Given the description of an element on the screen output the (x, y) to click on. 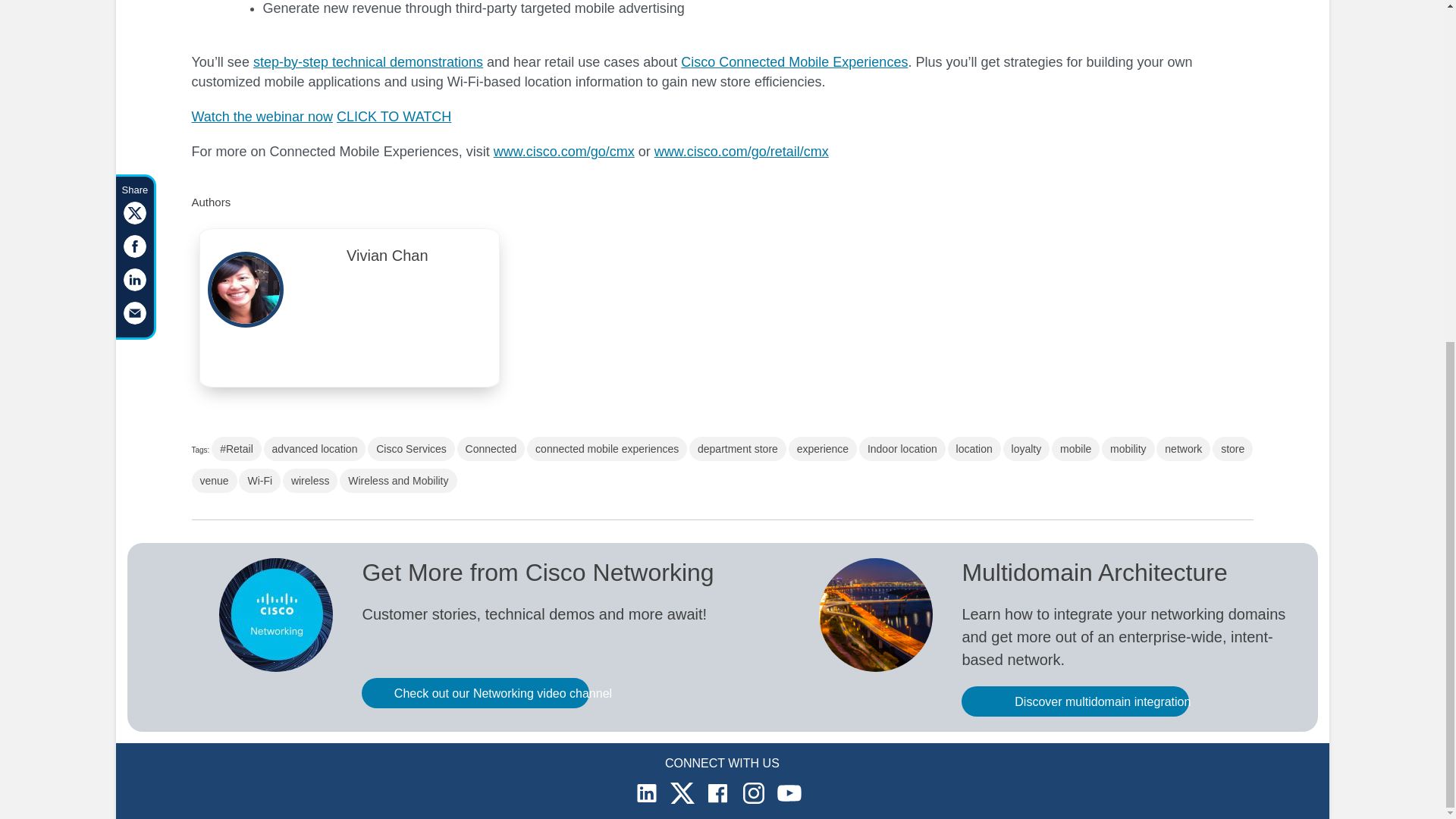
loyalty (1026, 448)
Cisco Connected Mobile Experiences (794, 61)
CLICK TO WATCH (393, 116)
advanced location (314, 448)
network (1182, 448)
Indoor location (901, 448)
Vivian Chan (387, 259)
connected mobile experiences (607, 448)
mobile (1075, 448)
venue (212, 480)
mobility (1128, 448)
Watch the webinar now (260, 116)
step-by-step technical demonstrations (368, 61)
department store (737, 448)
experience (823, 448)
